Given the description of an element on the screen output the (x, y) to click on. 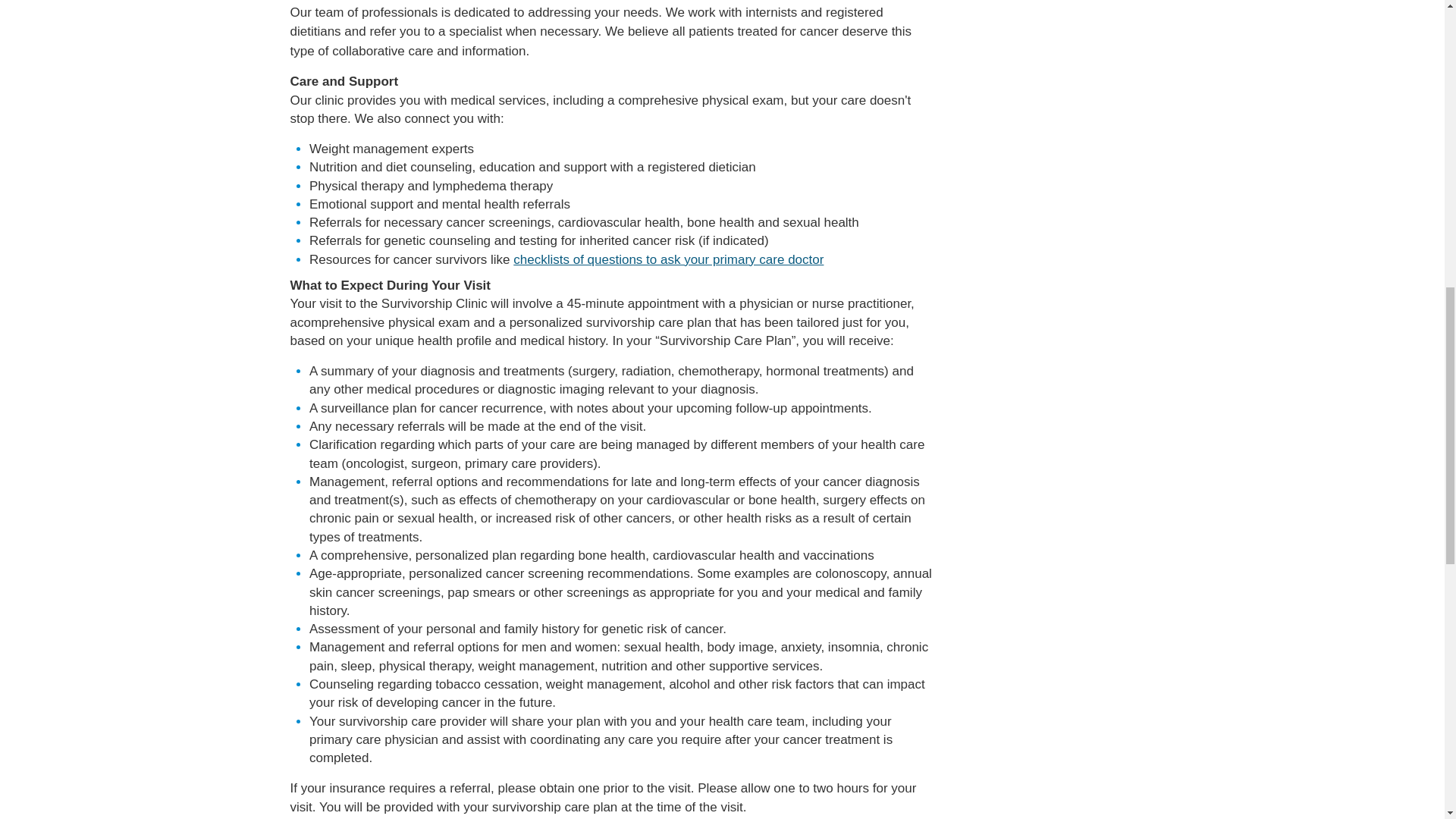
checklists of questions to ask your primary care doctor (668, 259)
